Given the description of an element on the screen output the (x, y) to click on. 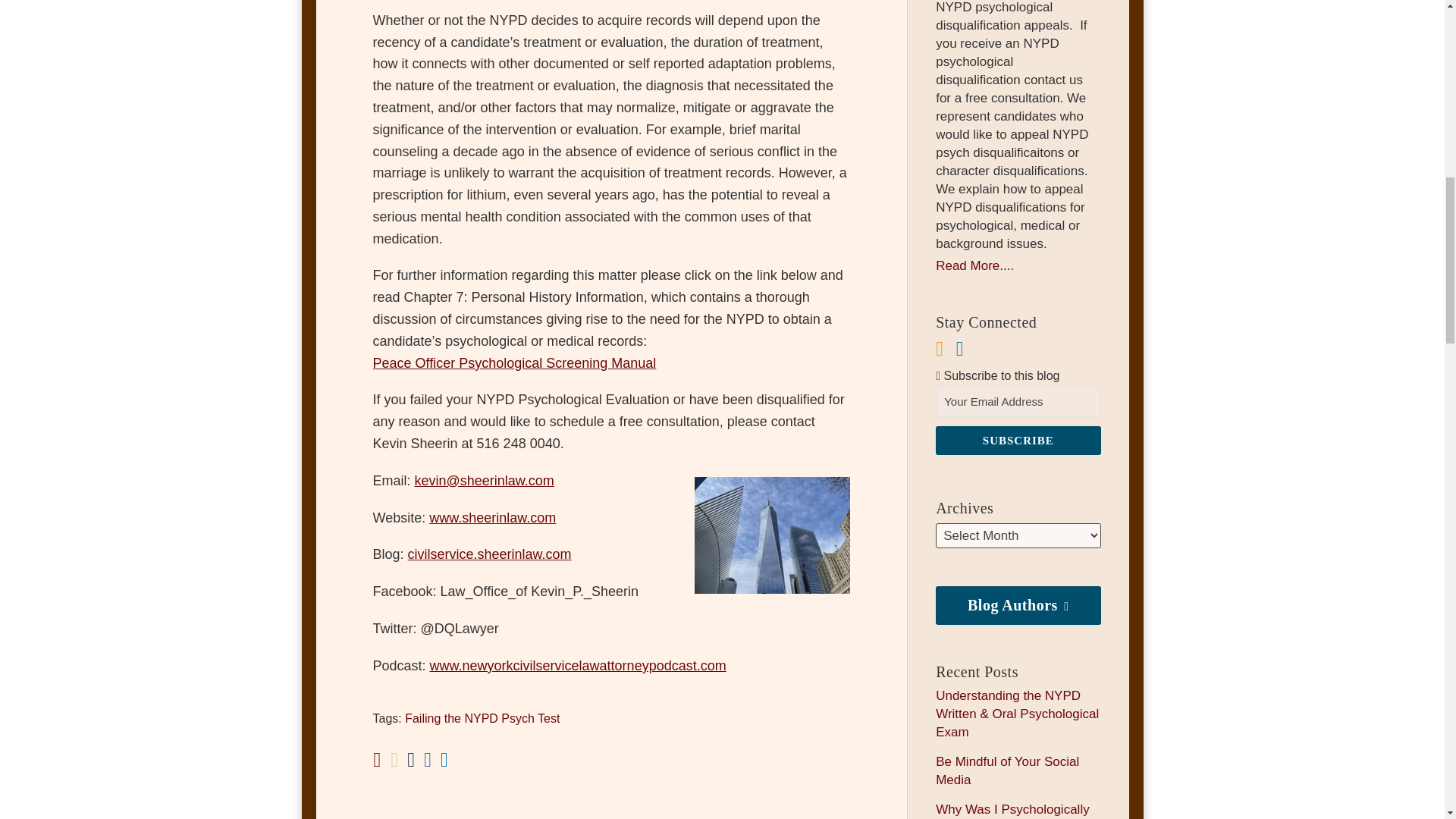
Subscribe (1018, 440)
Subscribe (1018, 440)
Failing the NYPD Psych Test (481, 717)
civilservice.sheerinlaw.com (489, 554)
www.newyorkcivilservicelawattorneypodcast.com (577, 665)
www.sheerinlaw.com (492, 517)
Why Was I Psychologically Disqualified? (1012, 810)
Be Mindful of Your Social Media (1007, 770)
Peace Officer Psychological Screening Manual (514, 363)
Read More.... (1018, 266)
